Given the description of an element on the screen output the (x, y) to click on. 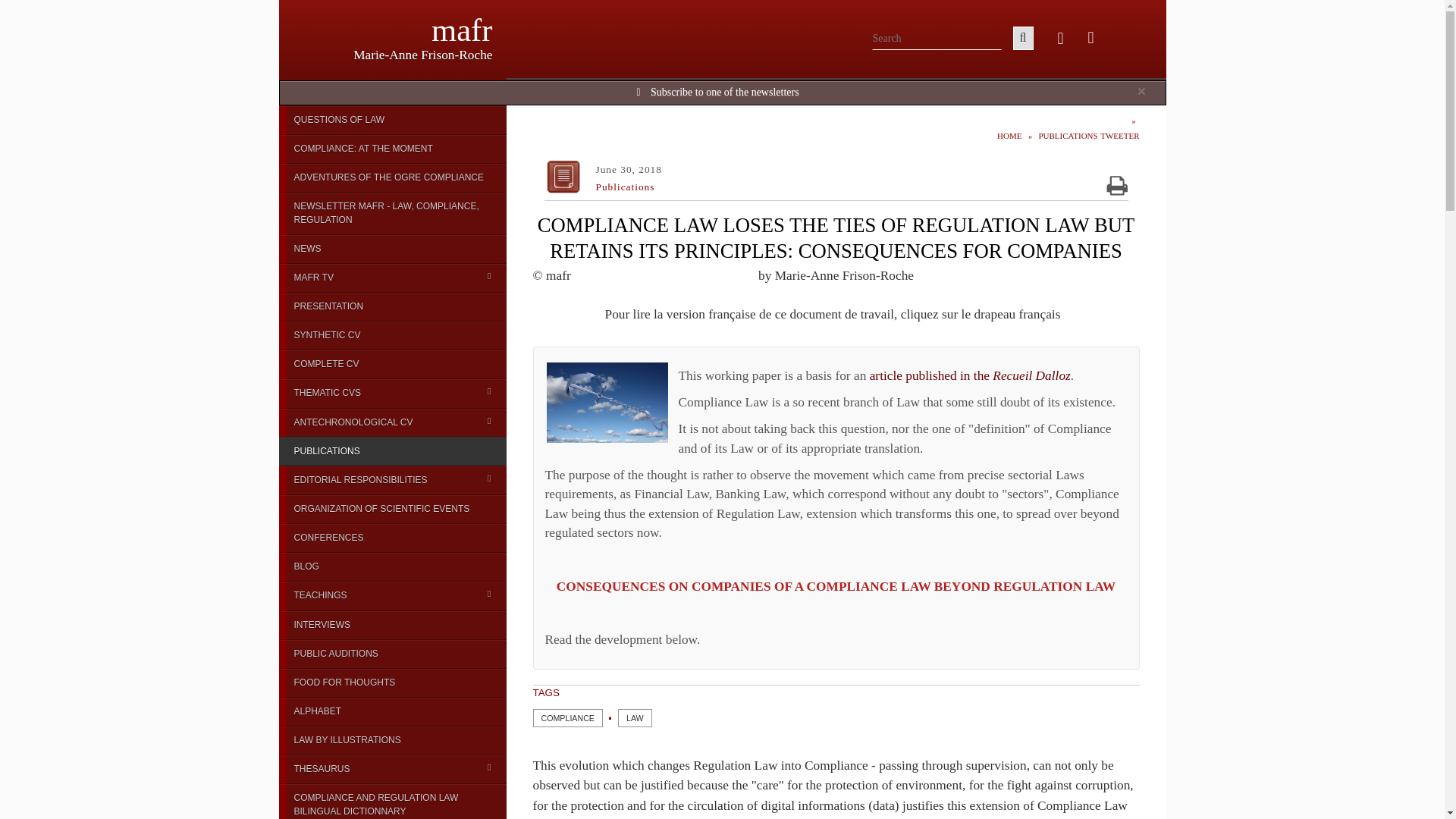
Subscribe to one of the newsletters (724, 91)
SYNTHETIC CV (392, 335)
ANTECHRONOLOGICAL CV (392, 421)
NEWSLETTER MAFR - LAW, COMPLIANCE, REGULATION (392, 212)
PRESENTATION (392, 306)
MAFR TV (392, 276)
THEMATIC CVS (392, 392)
QUESTIONS OF LAW (392, 119)
COMPLIANCE: AT THE MOMENT (392, 148)
NEWS (392, 248)
mafr (461, 29)
ADVENTURES OF THE OGRE COMPLIANCE (392, 176)
PUBLICATIONS (392, 451)
COMPLETE CV (392, 363)
